Given the description of an element on the screen output the (x, y) to click on. 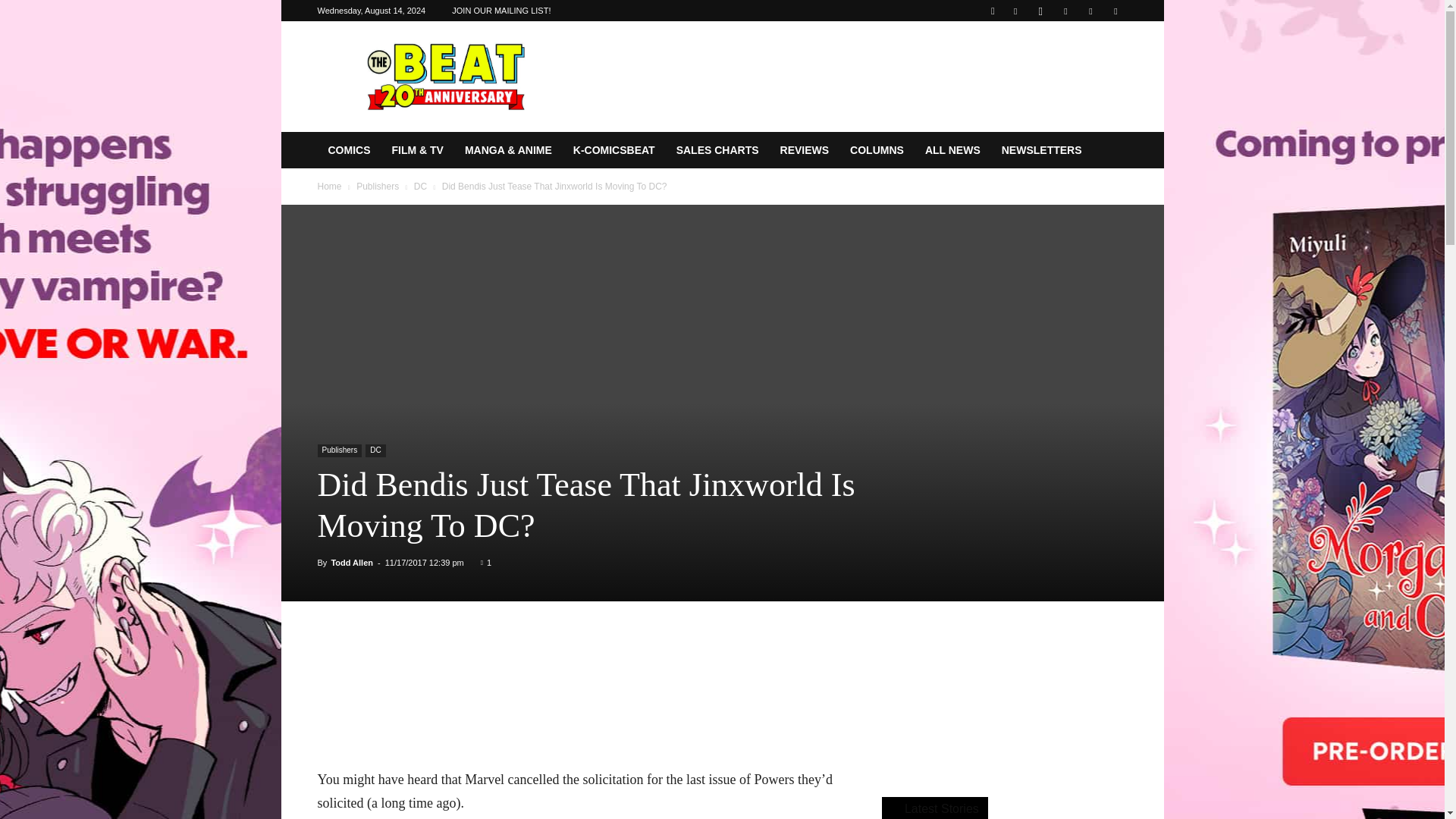
Instagram (1040, 10)
COMICS (348, 149)
JOIN OUR MAILING LIST! (500, 10)
Twitter (1090, 10)
Search (1085, 64)
View all posts in Publishers (377, 185)
REVIEWS (805, 149)
RSS (1065, 10)
SALES CHARTS (717, 149)
K-COMICSBEAT (613, 149)
